Given the description of an element on the screen output the (x, y) to click on. 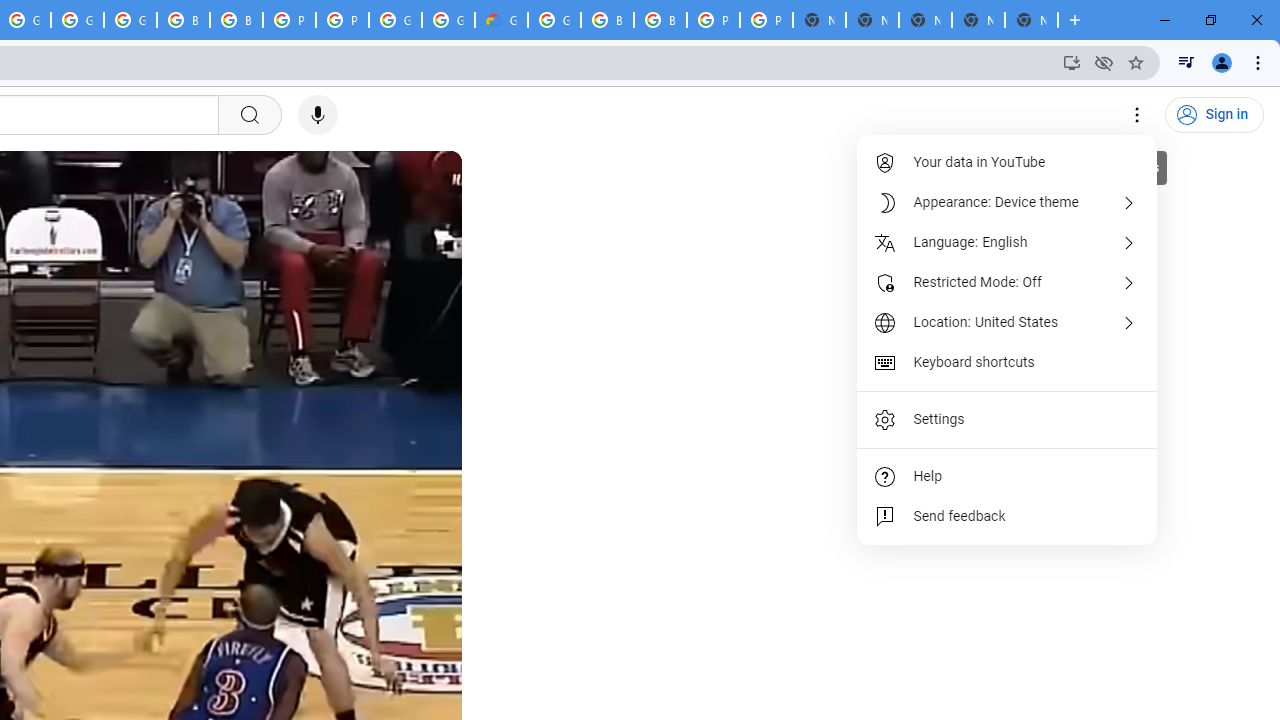
Restricted Mode: Off (1007, 282)
Google Cloud Platform (395, 20)
Keyboard shortcuts (1007, 362)
